Given the description of an element on the screen output the (x, y) to click on. 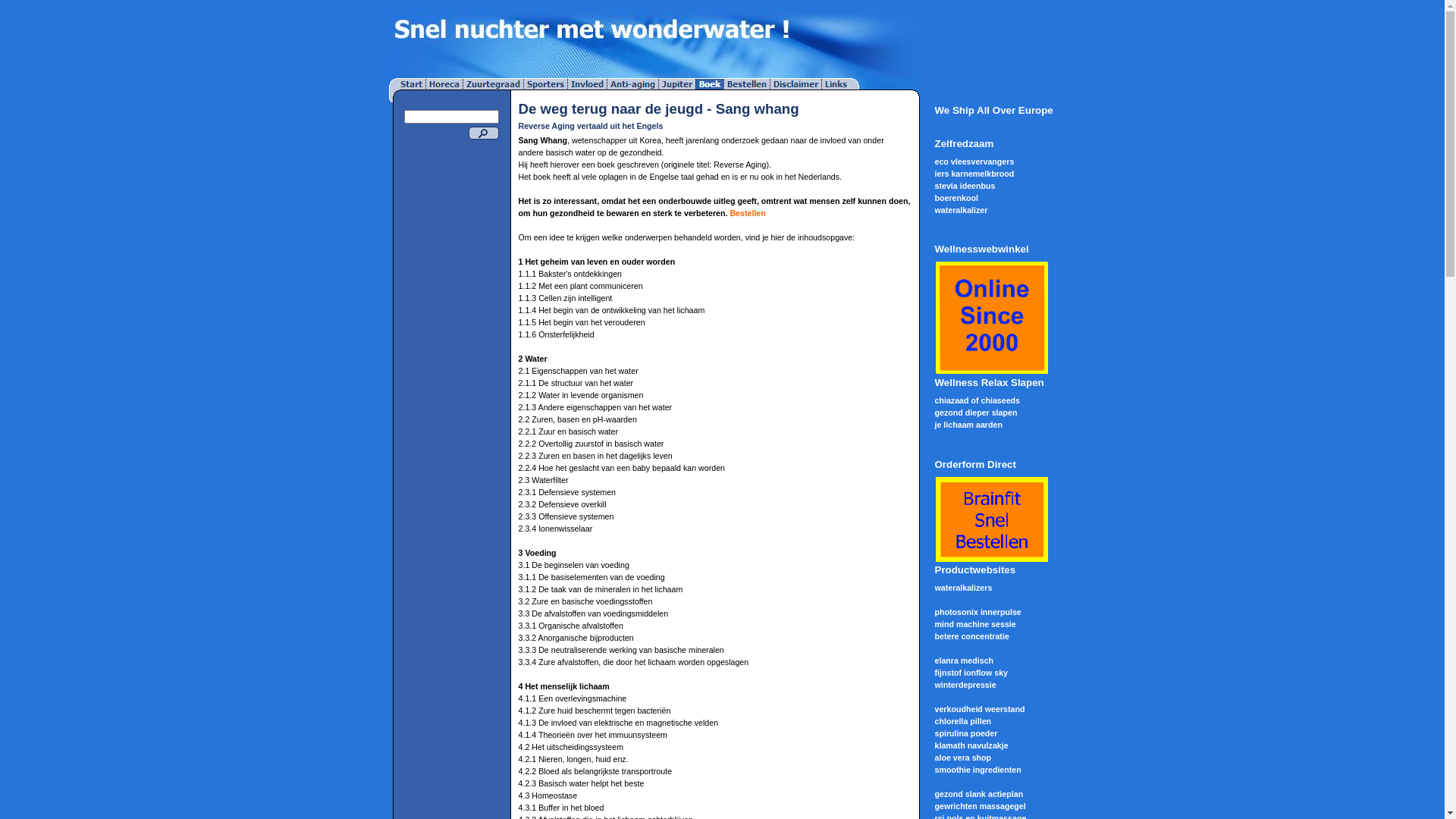
iers karnemelkbrood Element type: text (973, 173)
verkoudheid weerstand Element type: text (979, 708)
boerenkool Element type: text (955, 197)
fijnstof ionflow sky Element type: text (970, 672)
je lichaam aarden Element type: text (967, 424)
wateralkalizer Element type: text (960, 209)
chiazaad of chiaseeds Element type: text (976, 399)
betere concentratie Element type: text (971, 635)
wateralkalizers Element type: text (962, 587)
klamath navulzakje Element type: text (970, 744)
spirulina poeder Element type: text (965, 732)
gezond slank actieplan Element type: text (978, 793)
gezond dieper slapen Element type: text (975, 412)
gewrichten massagegel Element type: text (979, 805)
Bestellen Element type: text (747, 212)
photosonix innerpulse Element type: text (977, 611)
eco vleesvervangers Element type: text (973, 161)
aloe vera shop Element type: text (962, 757)
elanra medisch Element type: text (963, 660)
winterdepressie Element type: text (964, 684)
mind machine sessie Element type: text (974, 623)
smoothie ingredienten Element type: text (977, 769)
chlorella pillen Element type: text (962, 720)
stevia ideenbus Element type: text (964, 185)
